Given the description of an element on the screen output the (x, y) to click on. 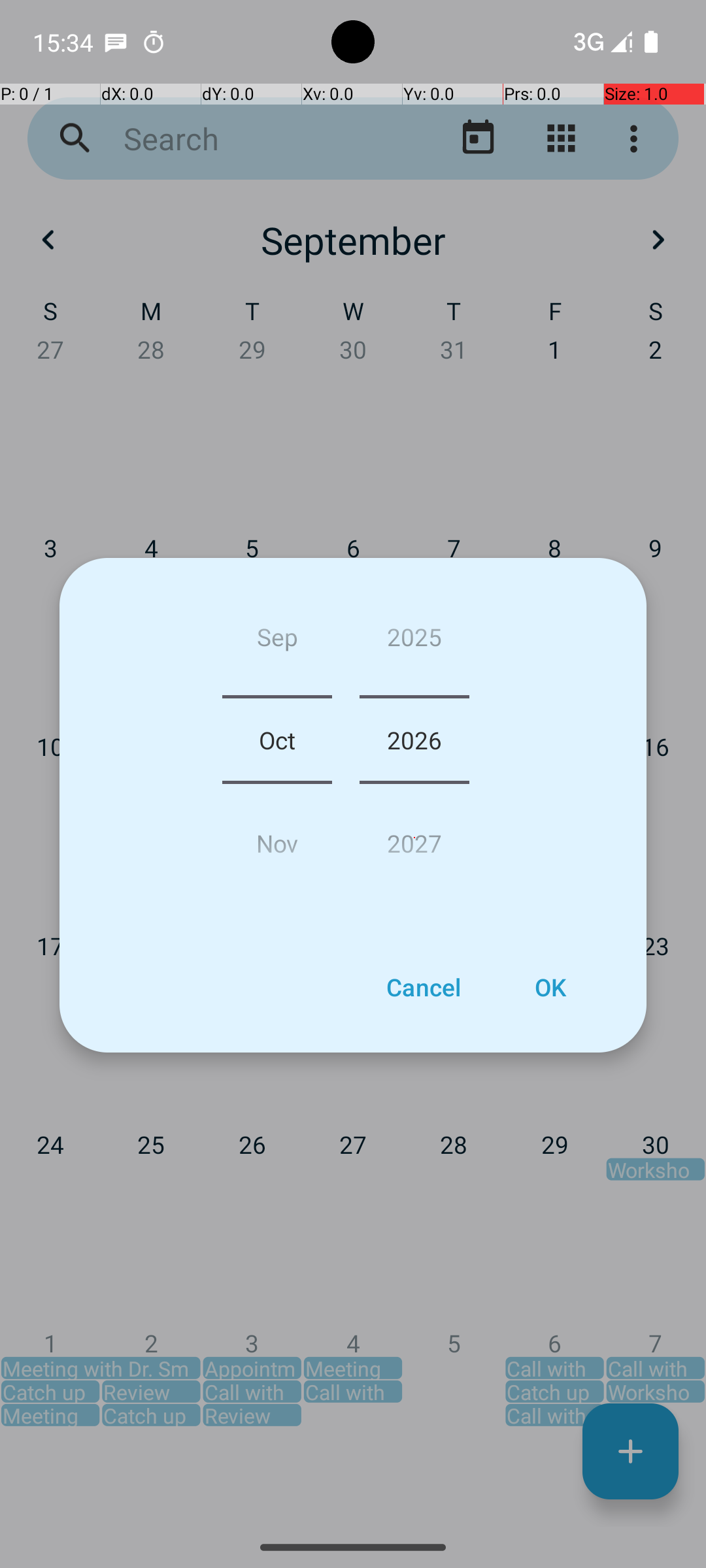
2027 Element type: android.widget.Button (414, 837)
